Given the description of an element on the screen output the (x, y) to click on. 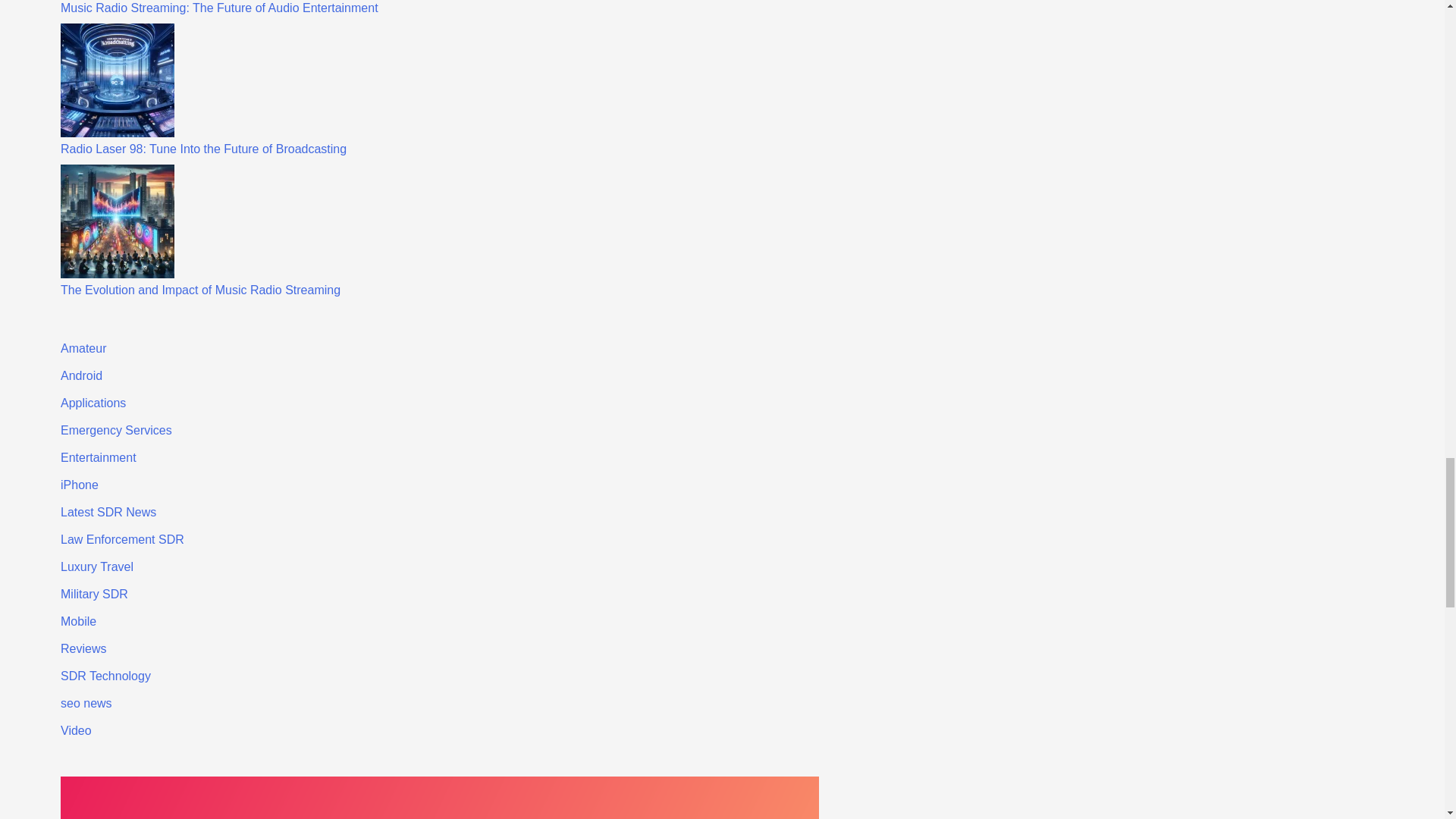
The Evolution and Impact of Music Radio Streaming (200, 289)
Radio Laser 98: Tune Into the Future of Broadcasting (203, 148)
Amateur (83, 348)
Music Radio Streaming: The Future of Audio Entertainment (219, 7)
